Given the description of an element on the screen output the (x, y) to click on. 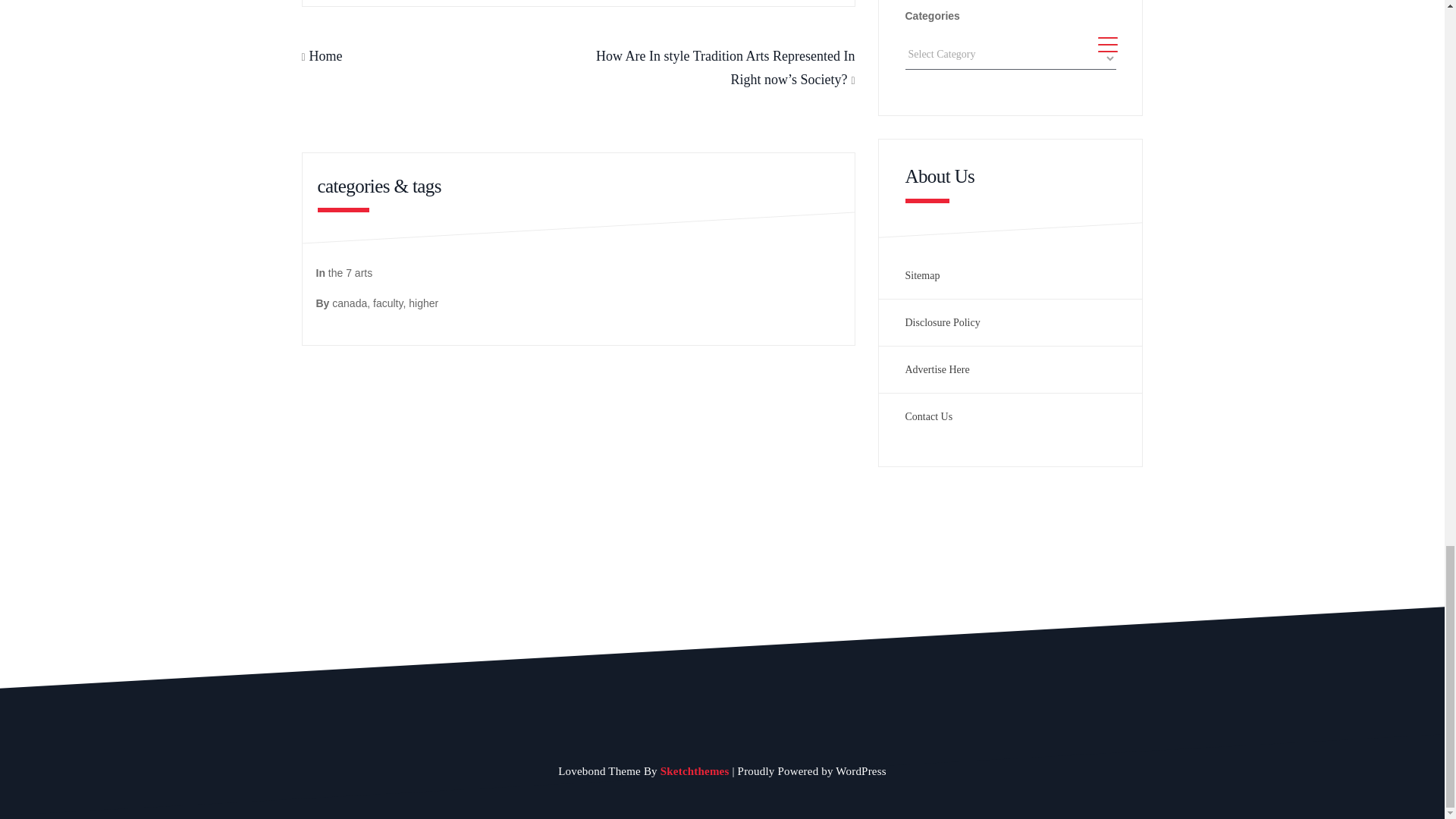
higher (423, 303)
Home (325, 55)
the 7 arts (350, 272)
faculty (387, 303)
canada (348, 303)
